Given the description of an element on the screen output the (x, y) to click on. 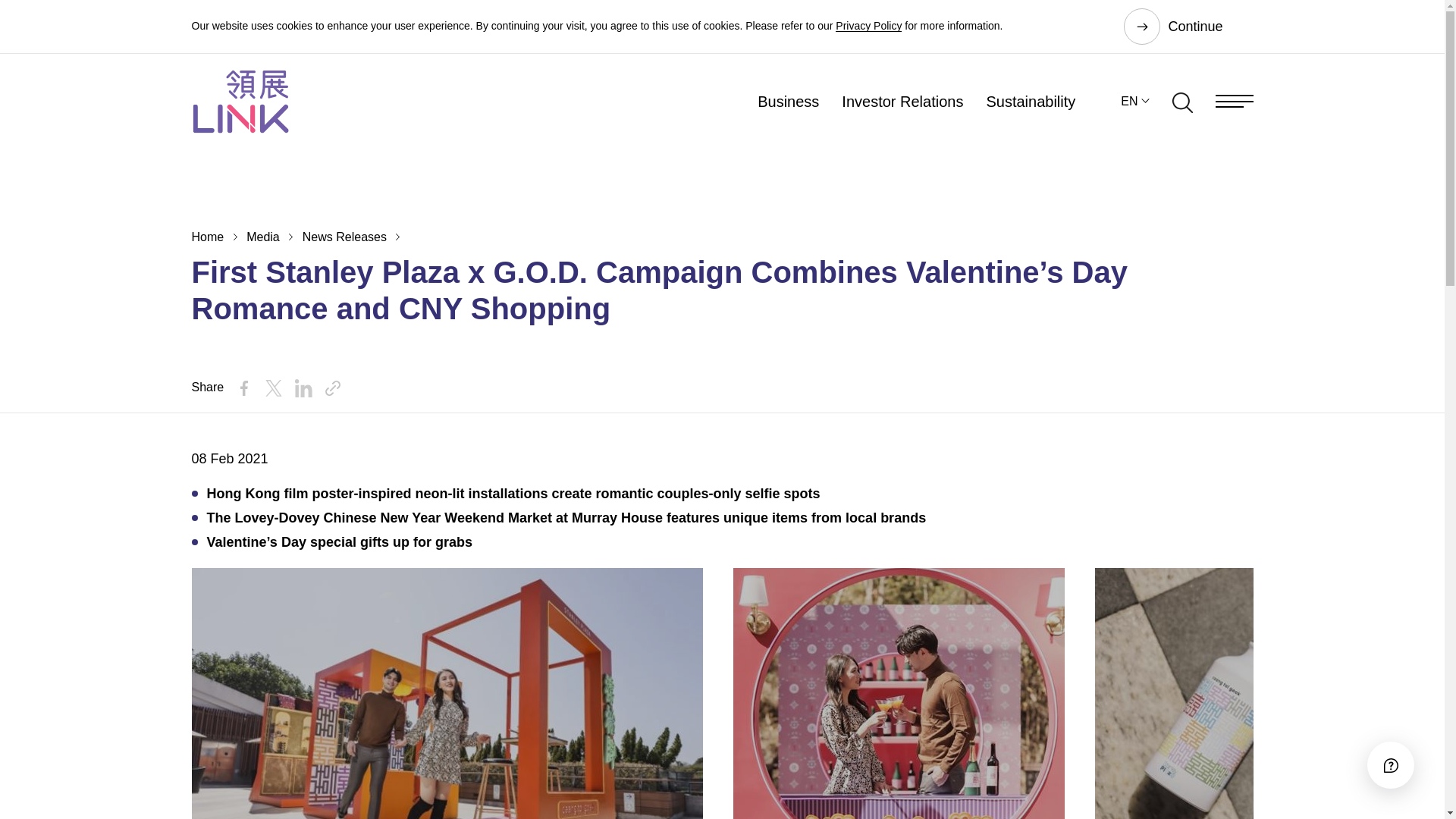
Search (1182, 102)
Sustainability (1030, 100)
Privacy Policy (868, 25)
Business (787, 100)
Investor Relations (901, 100)
Investor Relations (901, 100)
EN (1134, 100)
Business (787, 100)
Continue (1188, 26)
Search (1182, 100)
